Given the description of an element on the screen output the (x, y) to click on. 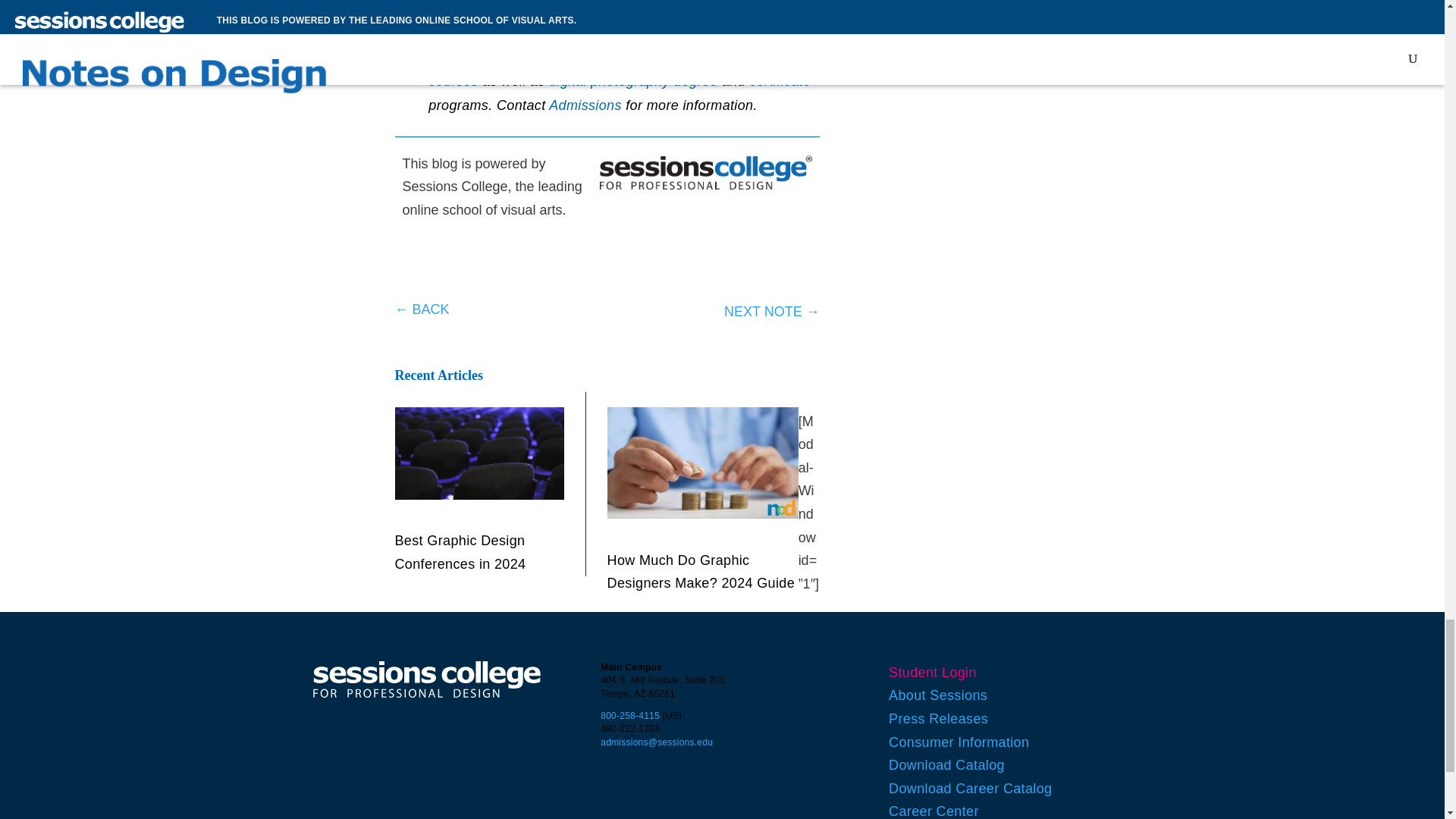
Customer reviews powered by Trustpilot (606, 265)
